Given the description of an element on the screen output the (x, y) to click on. 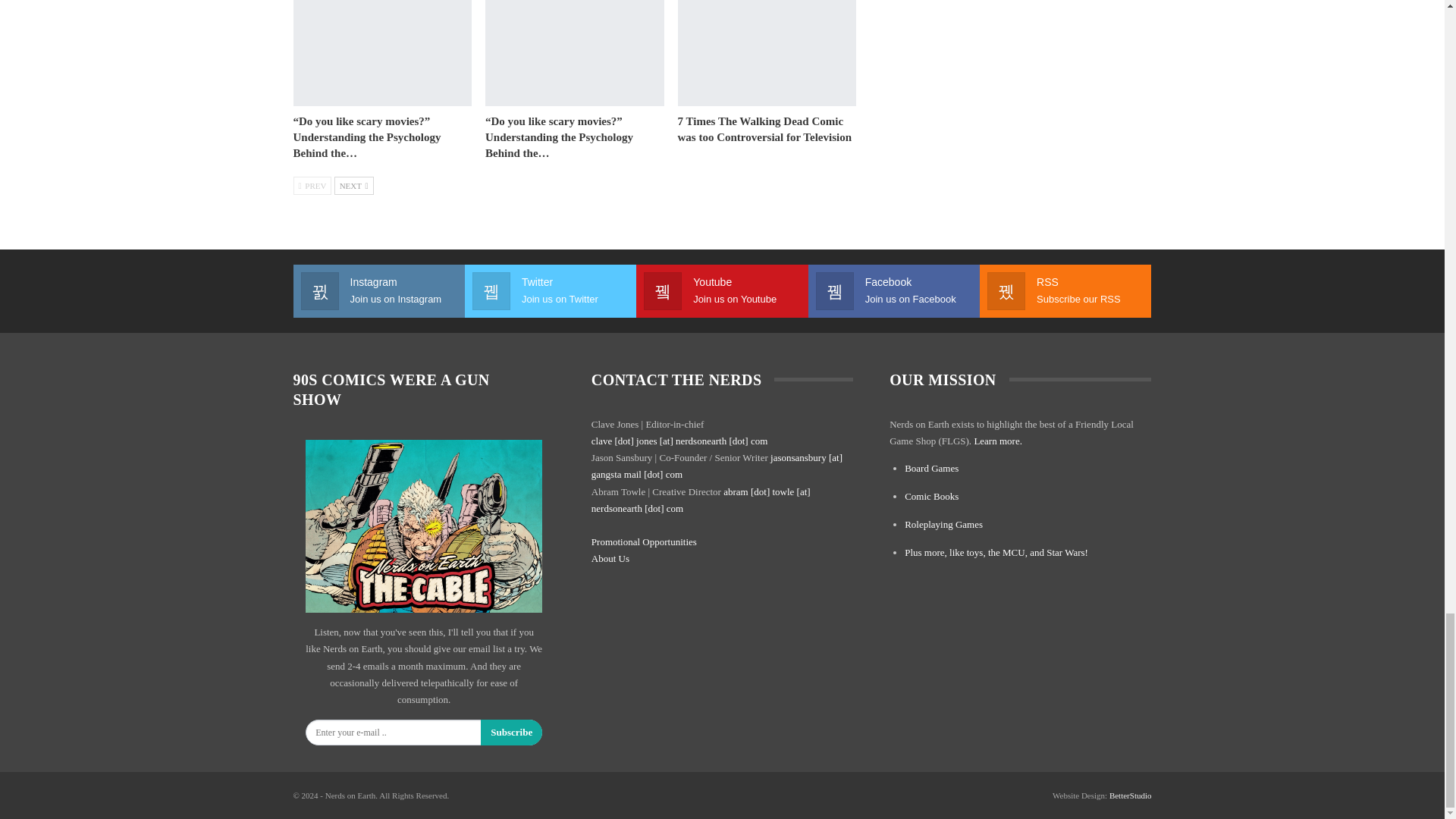
Previous (311, 185)
Next (354, 185)
